Given the description of an element on the screen output the (x, y) to click on. 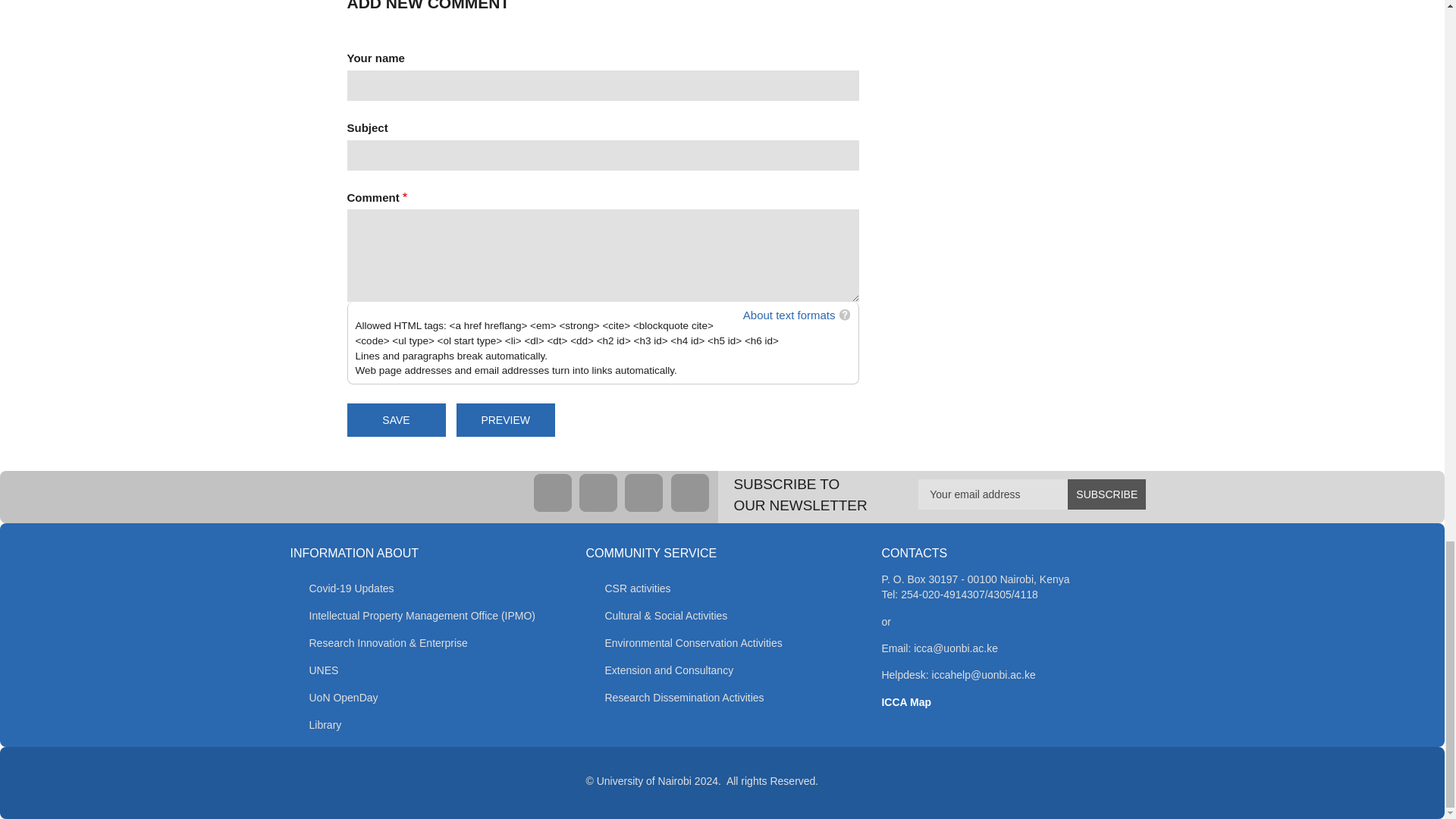
Your email address (1031, 494)
Save (396, 419)
Preview (505, 419)
SUBSCRIBE (1106, 494)
